Given the description of an element on the screen output the (x, y) to click on. 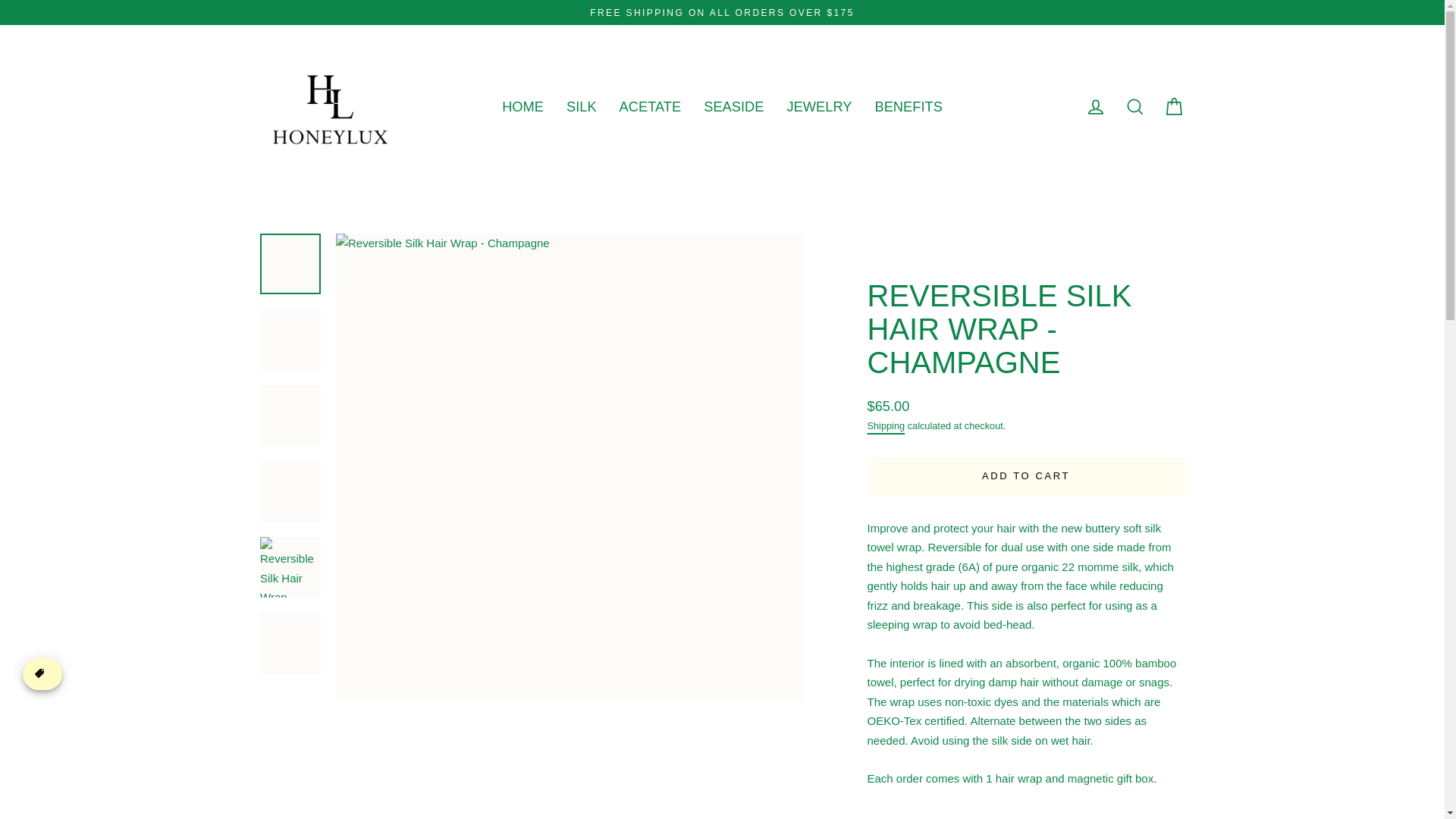
SILK (581, 106)
HOME (522, 106)
